Given the description of an element on the screen output the (x, y) to click on. 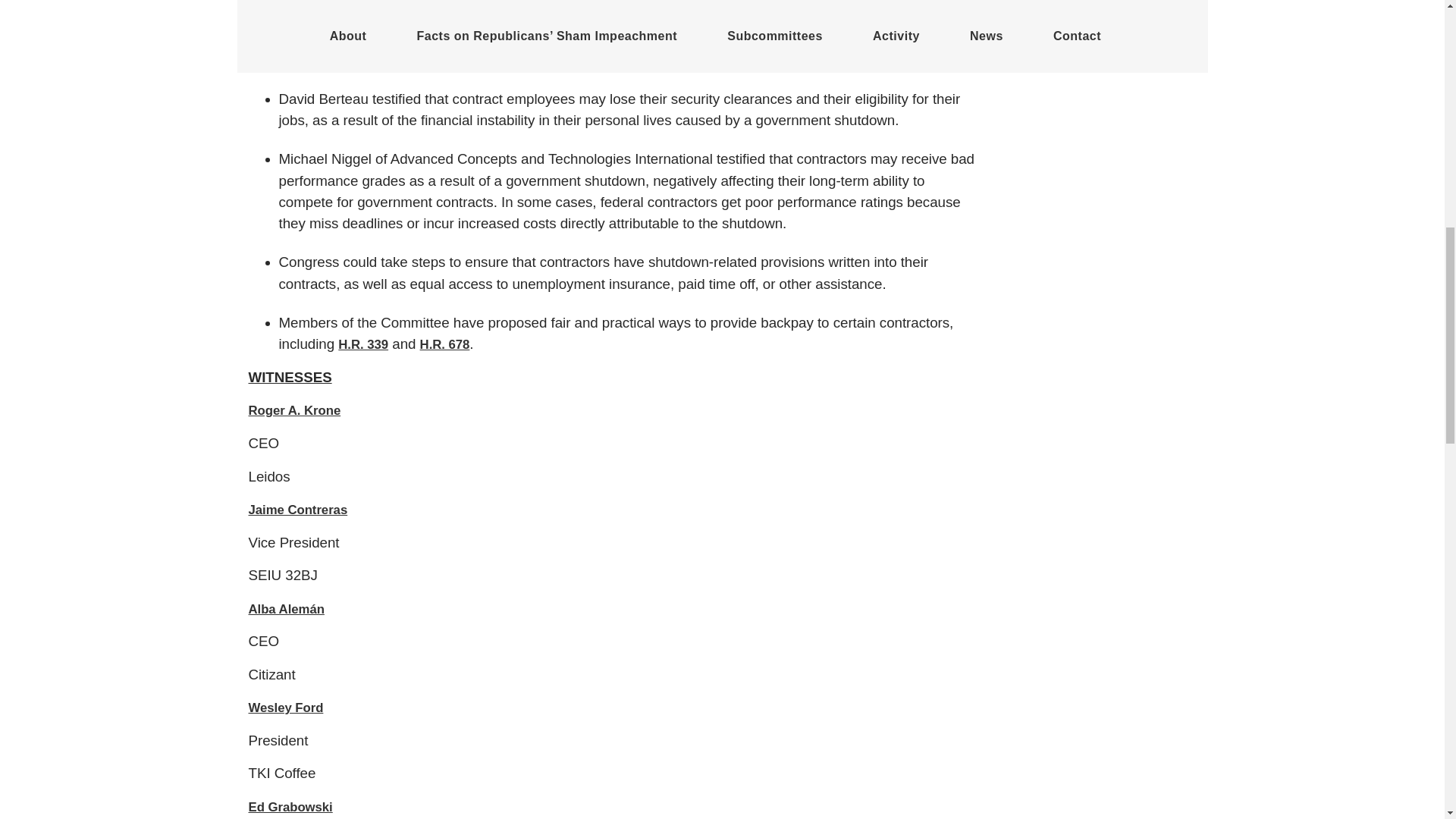
H.R. 678 (445, 344)
H.R. 339 (362, 344)
Roger A. Krone (294, 410)
